Given the description of an element on the screen output the (x, y) to click on. 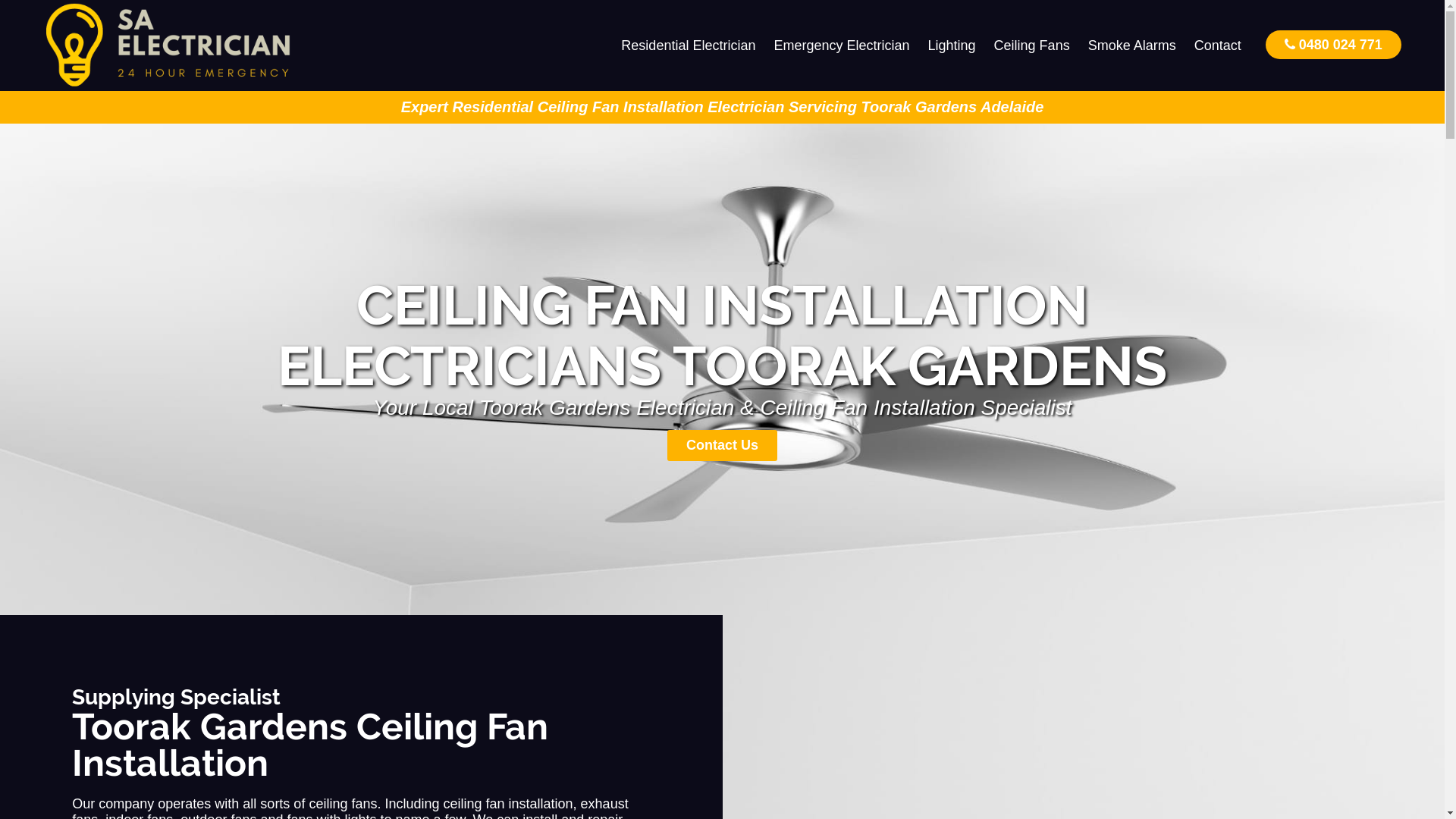
Contact Us Element type: text (722, 445)
Residential Electrician Element type: text (687, 45)
Lighting Element type: text (952, 45)
Contact Element type: text (1217, 45)
Smoke Alarms Element type: text (1132, 45)
0480 024 771 Element type: text (1333, 44)
Emergency Electrician Element type: text (841, 45)
Ceiling Fans Element type: text (1032, 45)
